Given the description of an element on the screen output the (x, y) to click on. 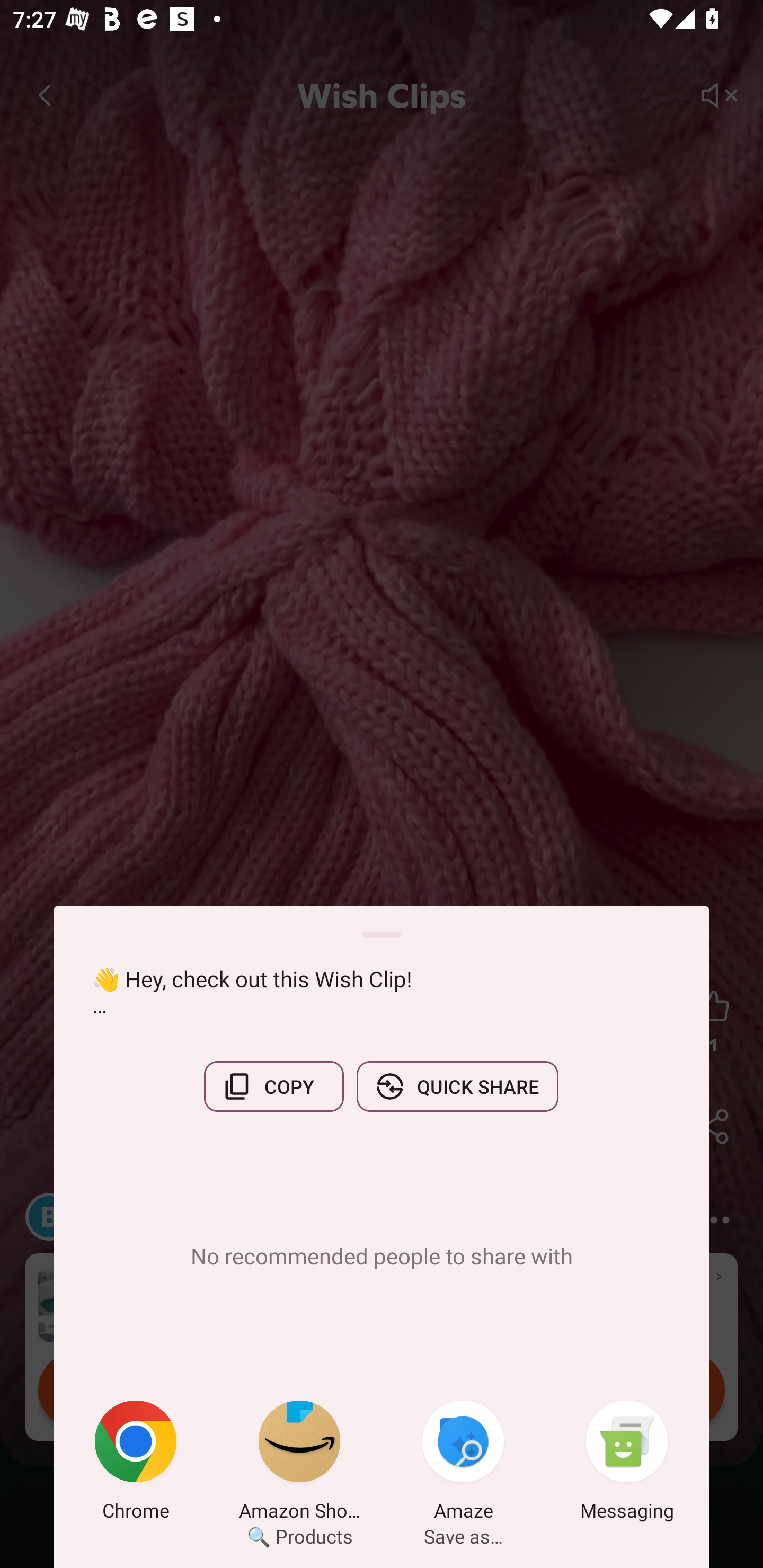
COPY (273, 1086)
QUICK SHARE (457, 1086)
Chrome (135, 1463)
Amazon Shopping 🔍 Products (299, 1463)
Amaze Save as… (463, 1463)
Messaging (626, 1463)
